Given the description of an element on the screen output the (x, y) to click on. 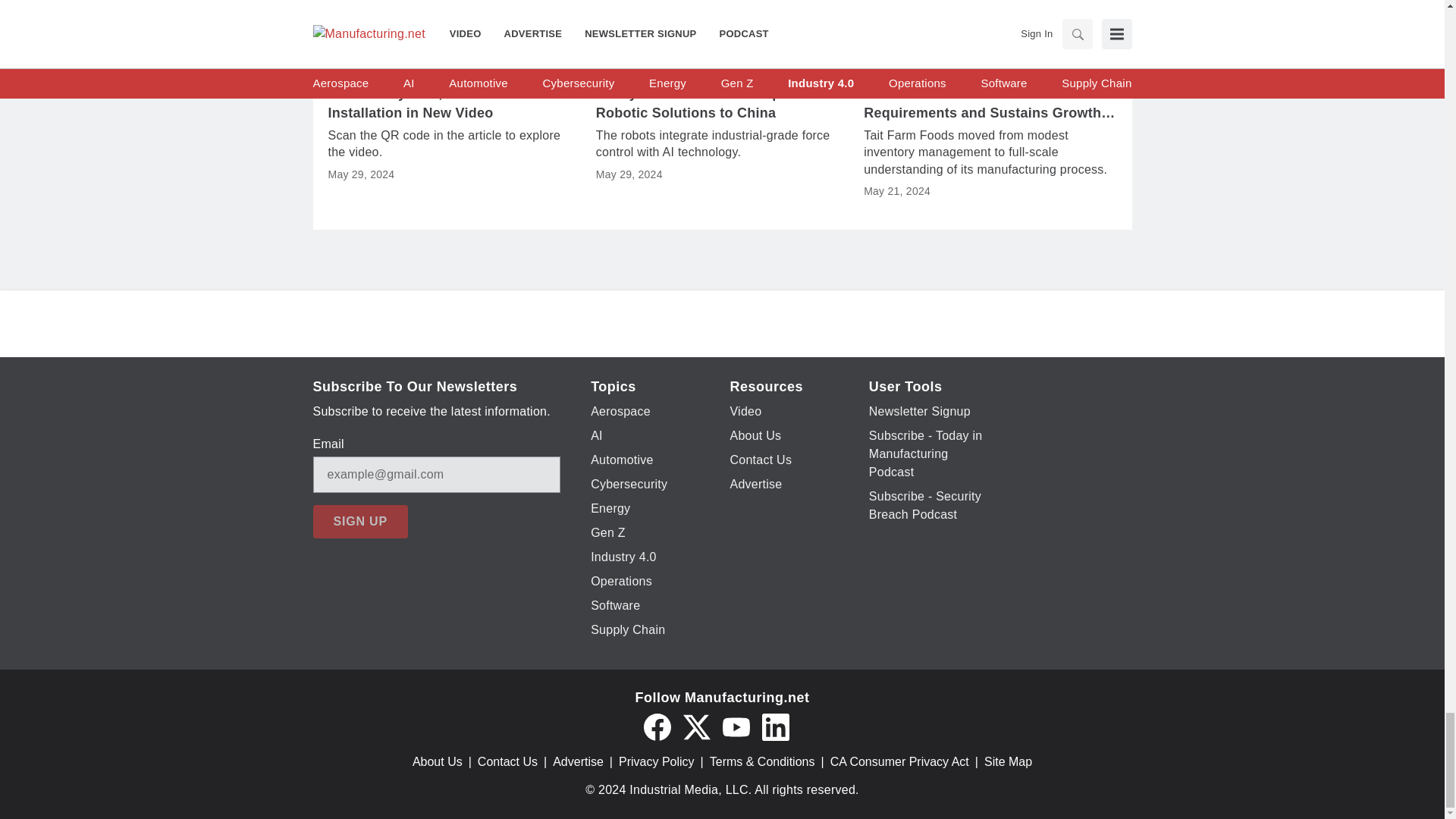
LinkedIn icon (775, 727)
YouTube icon (735, 727)
Facebook icon (656, 727)
Twitter X icon (696, 727)
